Given the description of an element on the screen output the (x, y) to click on. 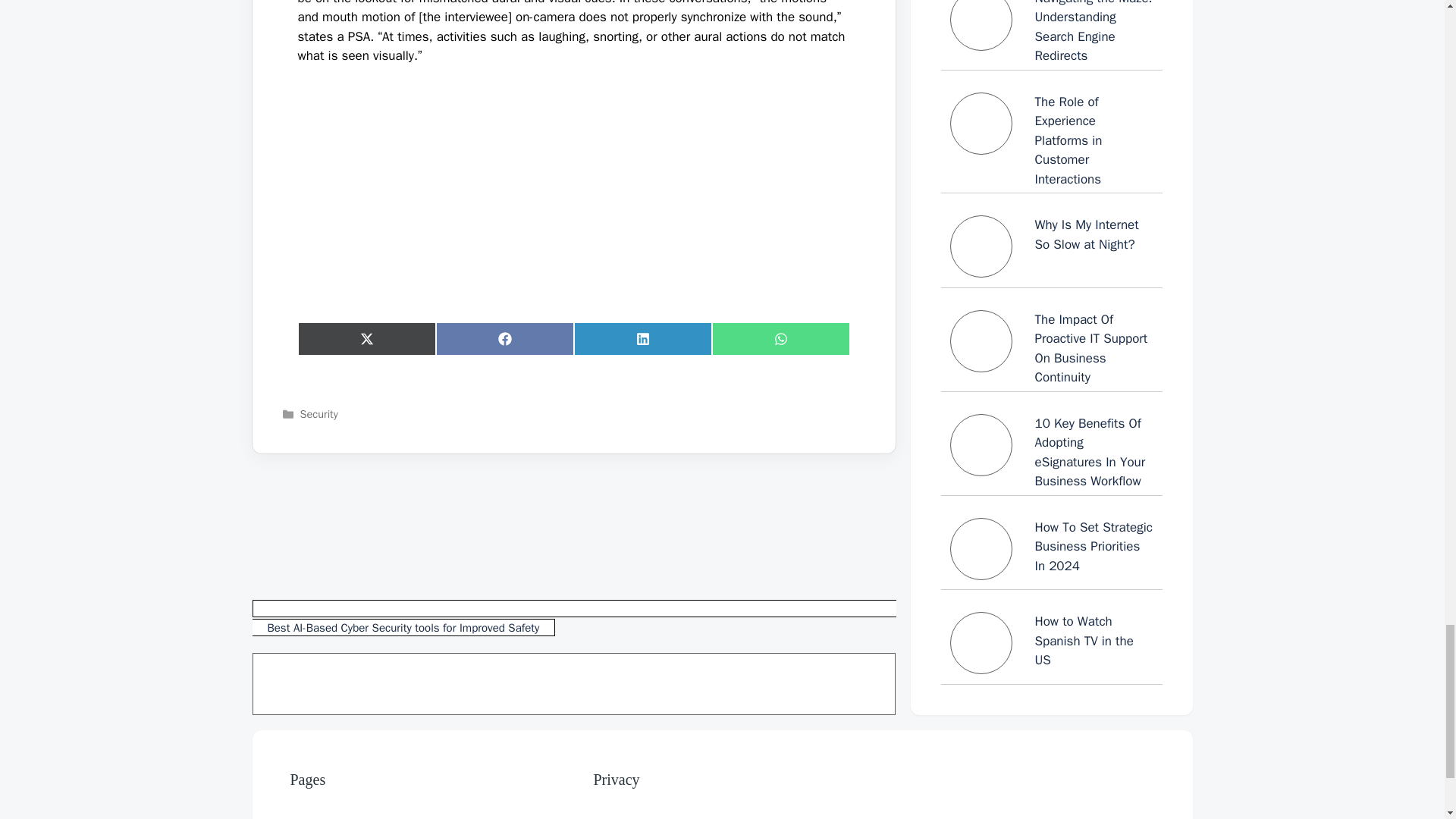
SHARE ON LINKEDIN (642, 338)
Best AI-Based Cyber Security tools for Improved Safety (573, 618)
Best AI-Based Cyber Security tools for Improved Safety (573, 618)
SHARE ON FACEBOOK (504, 338)
Security (318, 413)
SHARE ON WHATSAPP (779, 338)
